Given the description of an element on the screen output the (x, y) to click on. 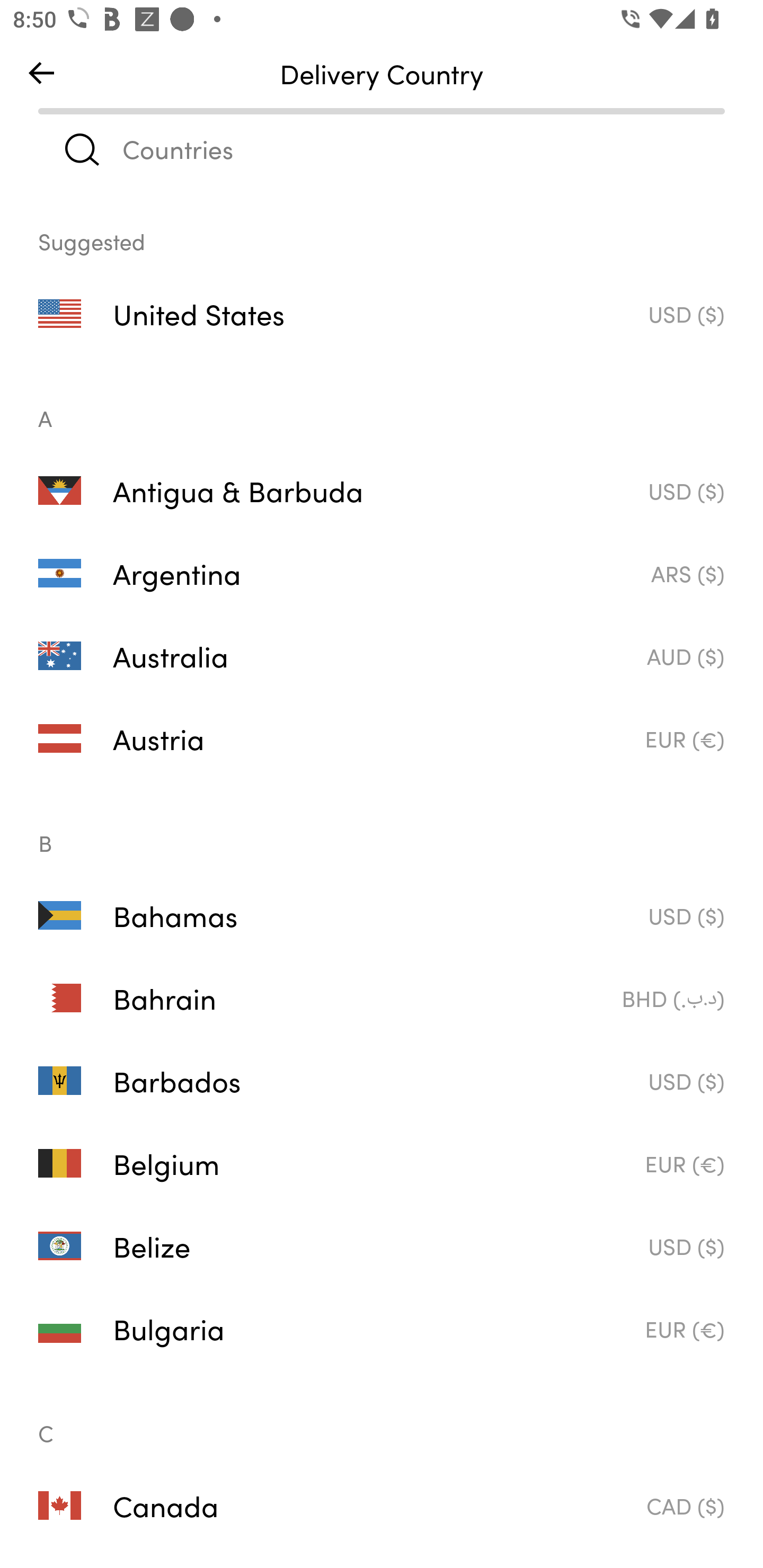
United States USD ($) (381, 313)
Antigua & Barbuda USD ($) (381, 489)
Argentina ARS ($) (381, 572)
Australia AUD ($) (381, 655)
Austria EUR (€) (381, 738)
Bahamas USD ($) (381, 914)
Bahrain BHD (.د.ب) (381, 997)
Barbados USD ($) (381, 1080)
Belgium EUR (€) (381, 1163)
Belize USD ($) (381, 1245)
Bulgaria EUR (€) (381, 1328)
Canada CAD ($) (381, 1505)
